Given the description of an element on the screen output the (x, y) to click on. 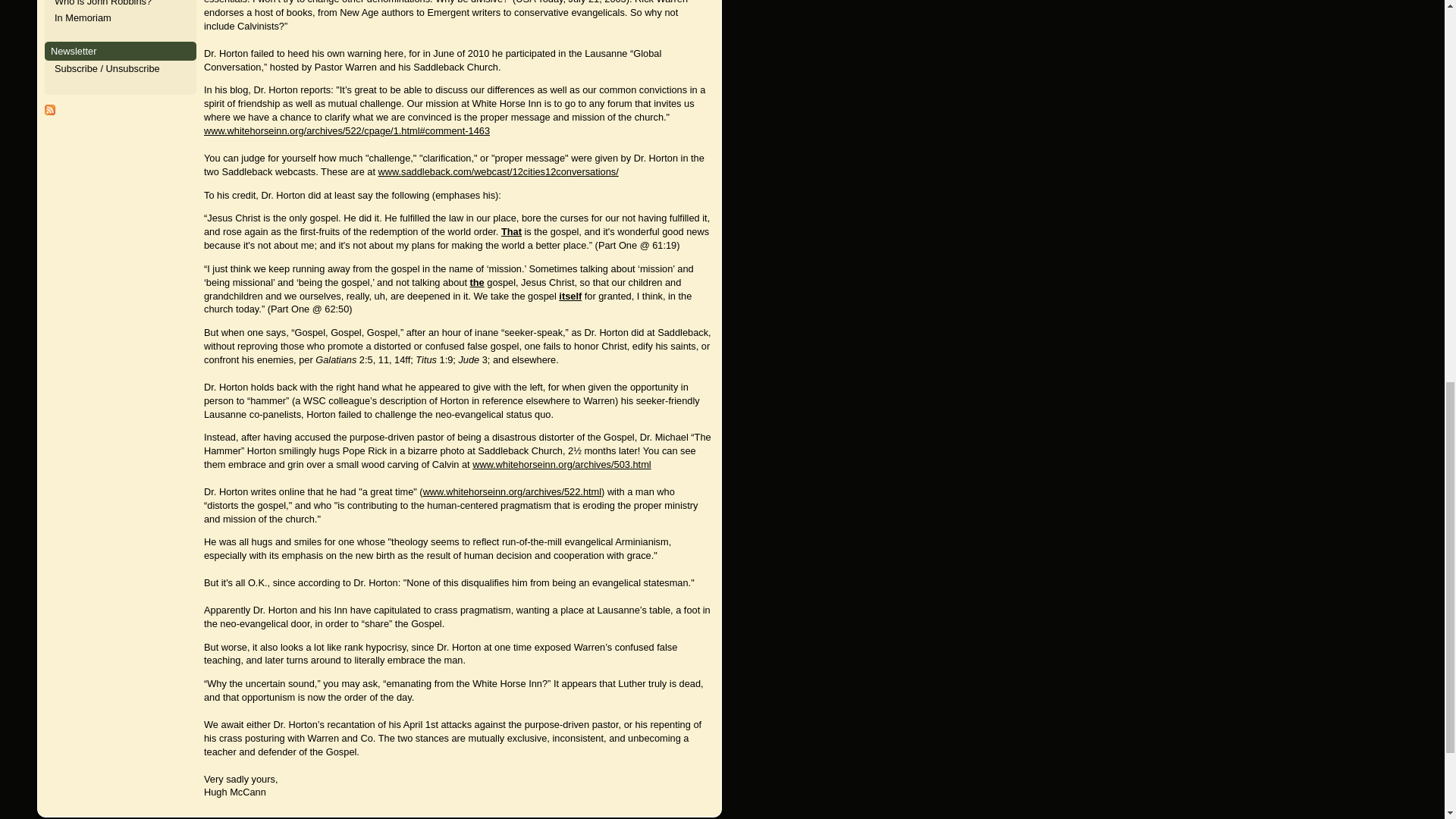
Who is John Robbins? (103, 3)
RSS Feed (50, 111)
In Memoriam (83, 17)
